Given the description of an element on the screen output the (x, y) to click on. 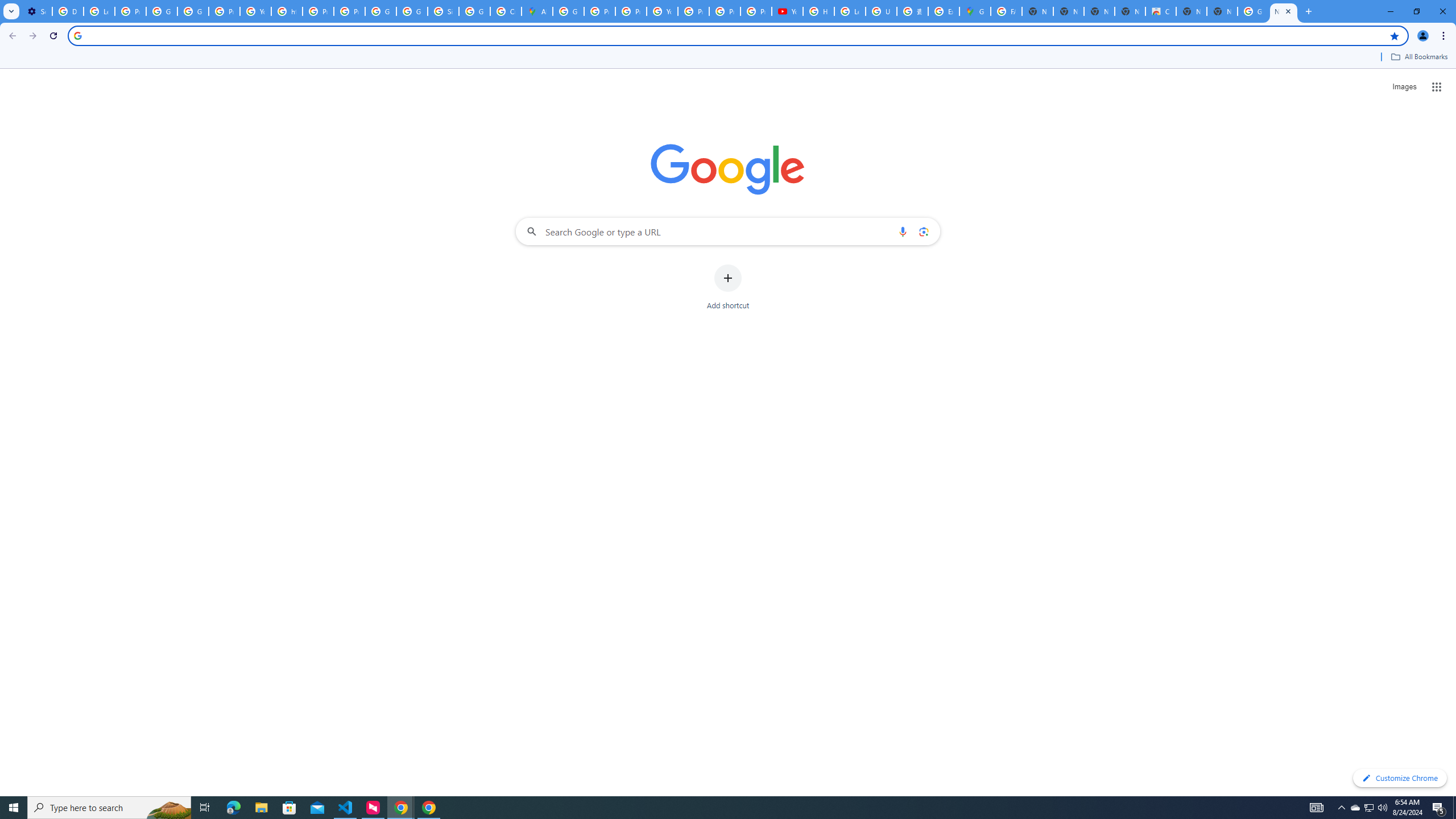
Create your Google Account (505, 11)
Privacy Help Center - Policies Help (631, 11)
Customize Chrome (1399, 778)
Search Google or type a URL (727, 230)
New Tab (1283, 11)
YouTube (662, 11)
How Chrome protects your passwords - Google Chrome Help (818, 11)
Sign in - Google Accounts (443, 11)
New Tab (1222, 11)
Search by image (922, 230)
Privacy Checkup (724, 11)
Google Account Help (161, 11)
